Given the description of an element on the screen output the (x, y) to click on. 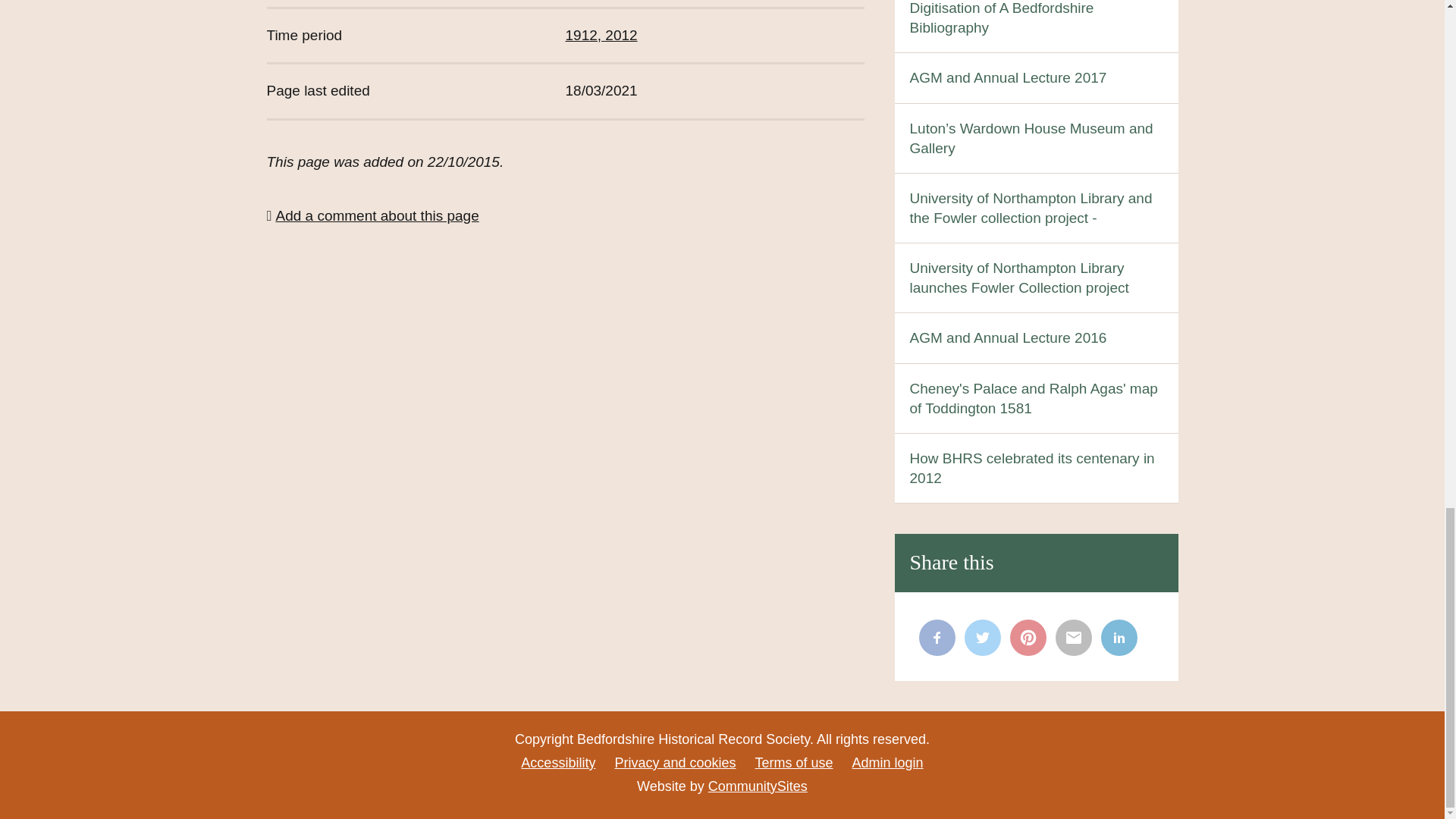
Add a comment about this page (372, 215)
1912, 2012 (601, 35)
